Given the description of an element on the screen output the (x, y) to click on. 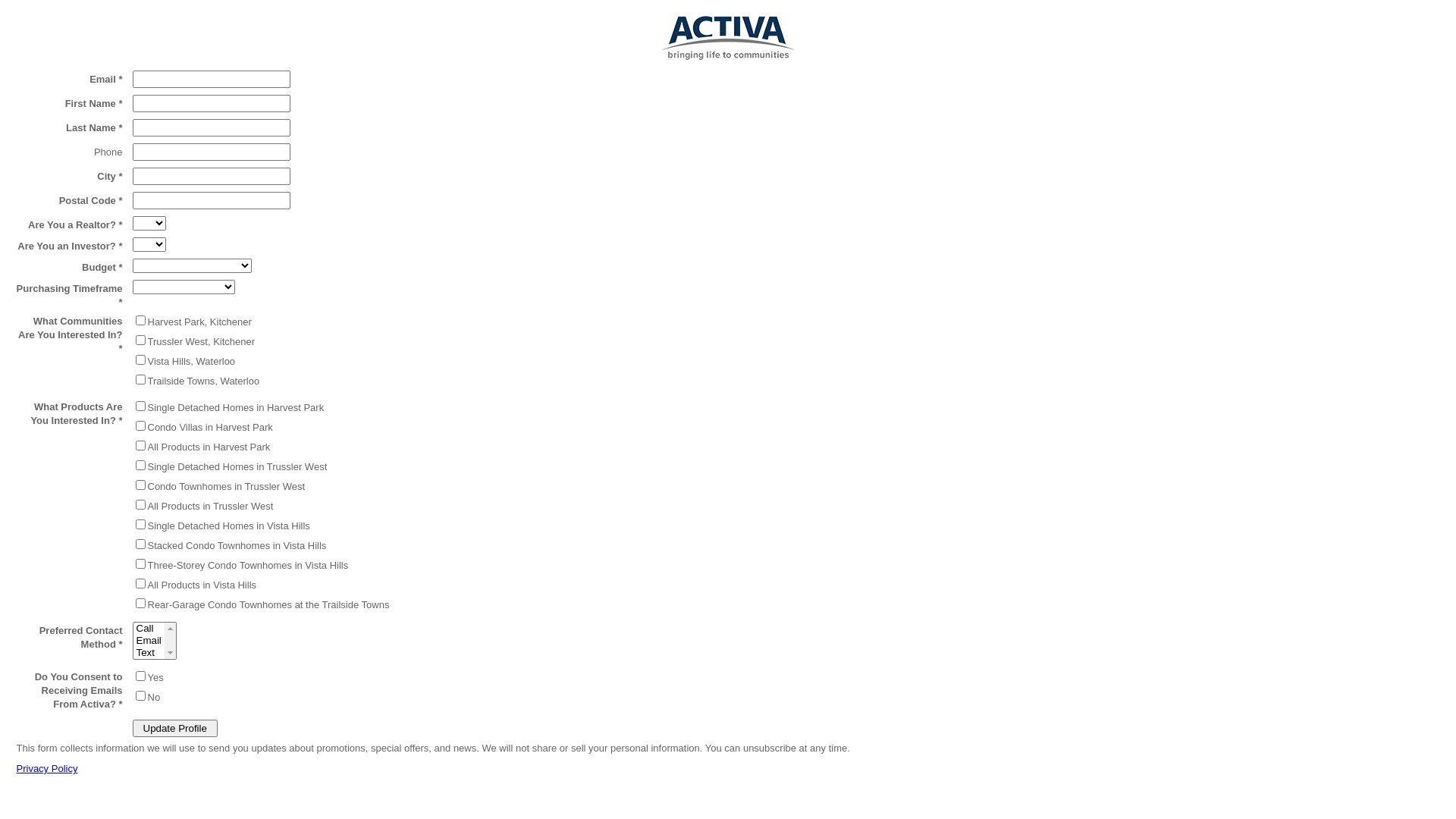
Privacy Policy Element type: text (47, 768)
Update Profile Element type: text (173, 728)
